Given the description of an element on the screen output the (x, y) to click on. 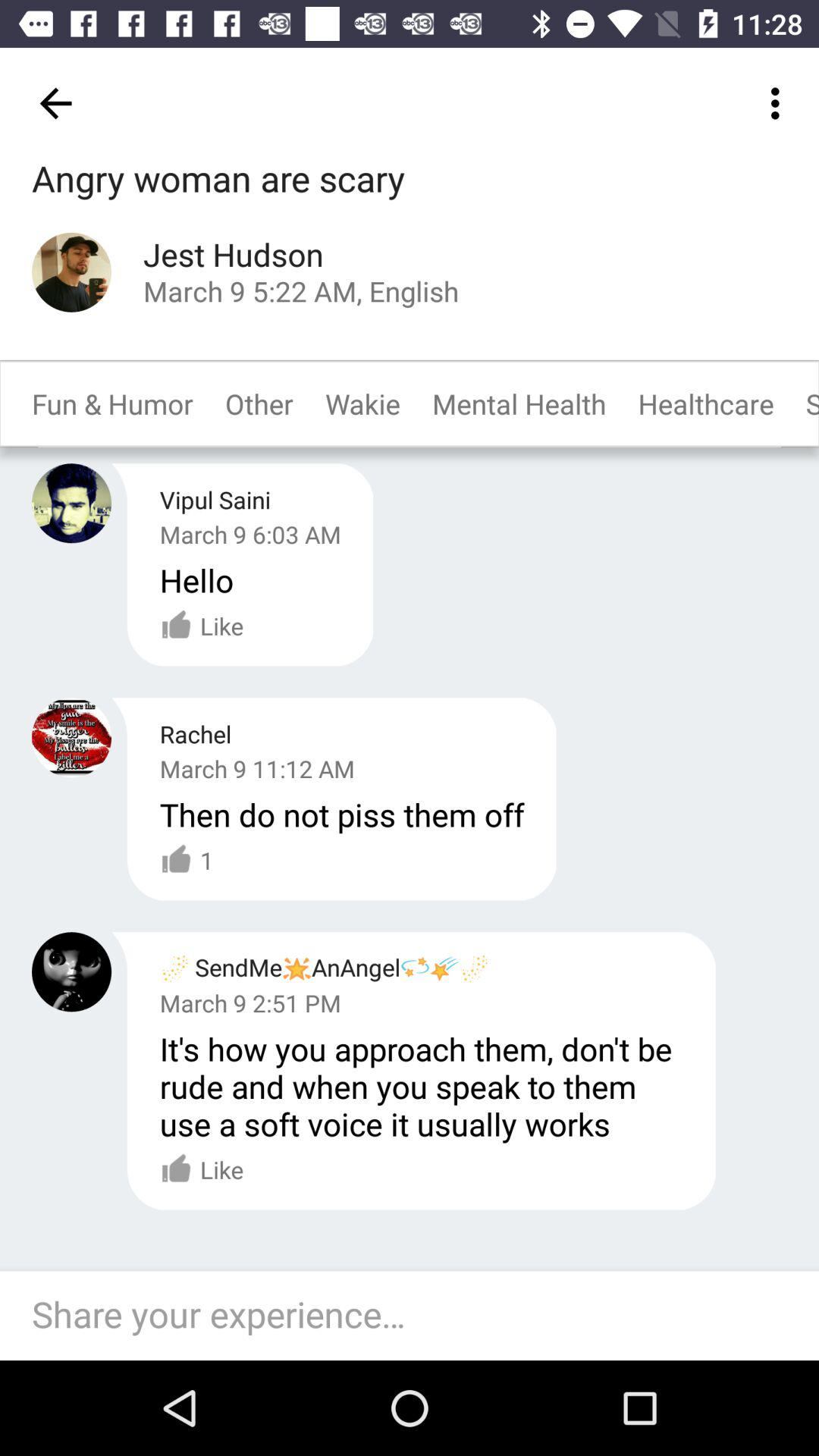
user id icon (71, 737)
